Given the description of an element on the screen output the (x, y) to click on. 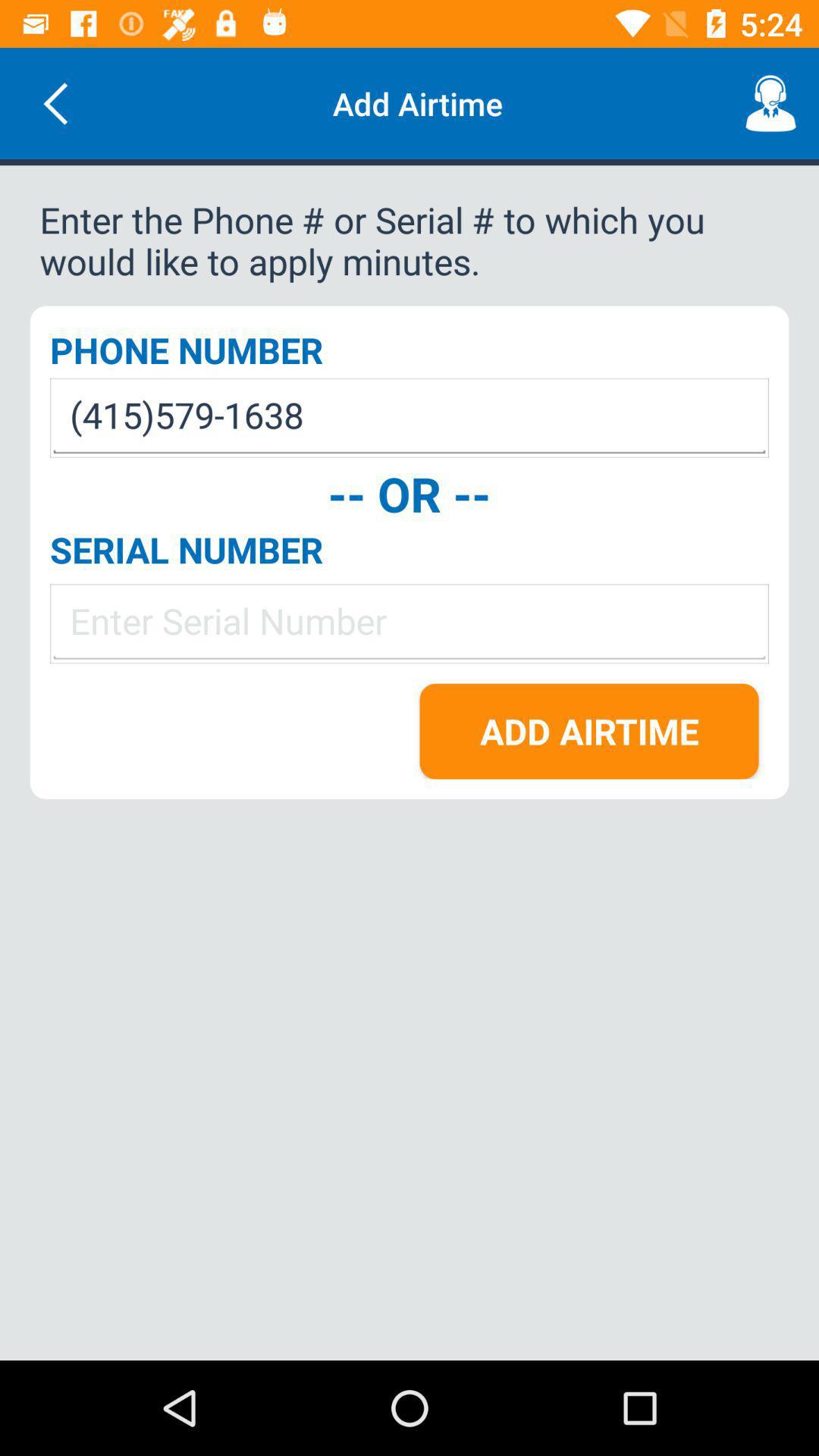
scroll to (415)579-1638 (409, 417)
